Given the description of an element on the screen output the (x, y) to click on. 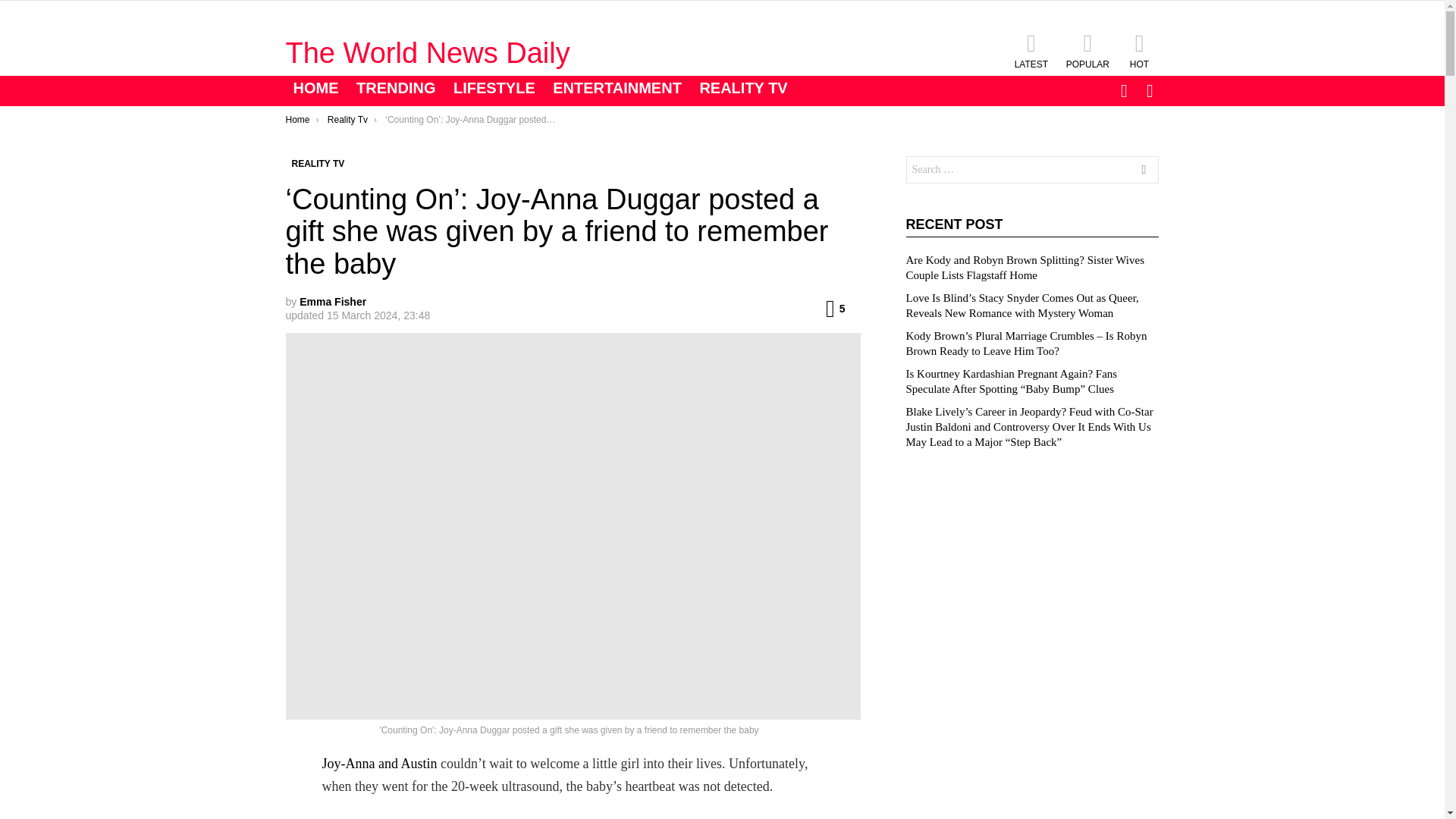
Posts by Emma Fisher (332, 301)
POPULAR (1087, 50)
Reality Tv (347, 119)
Emma Fisher (332, 301)
LATEST (1031, 50)
The World News Daily (427, 52)
HOT (1138, 50)
Home (296, 119)
ENTERTAINMENT (616, 87)
REALITY TV (742, 87)
